Given the description of an element on the screen output the (x, y) to click on. 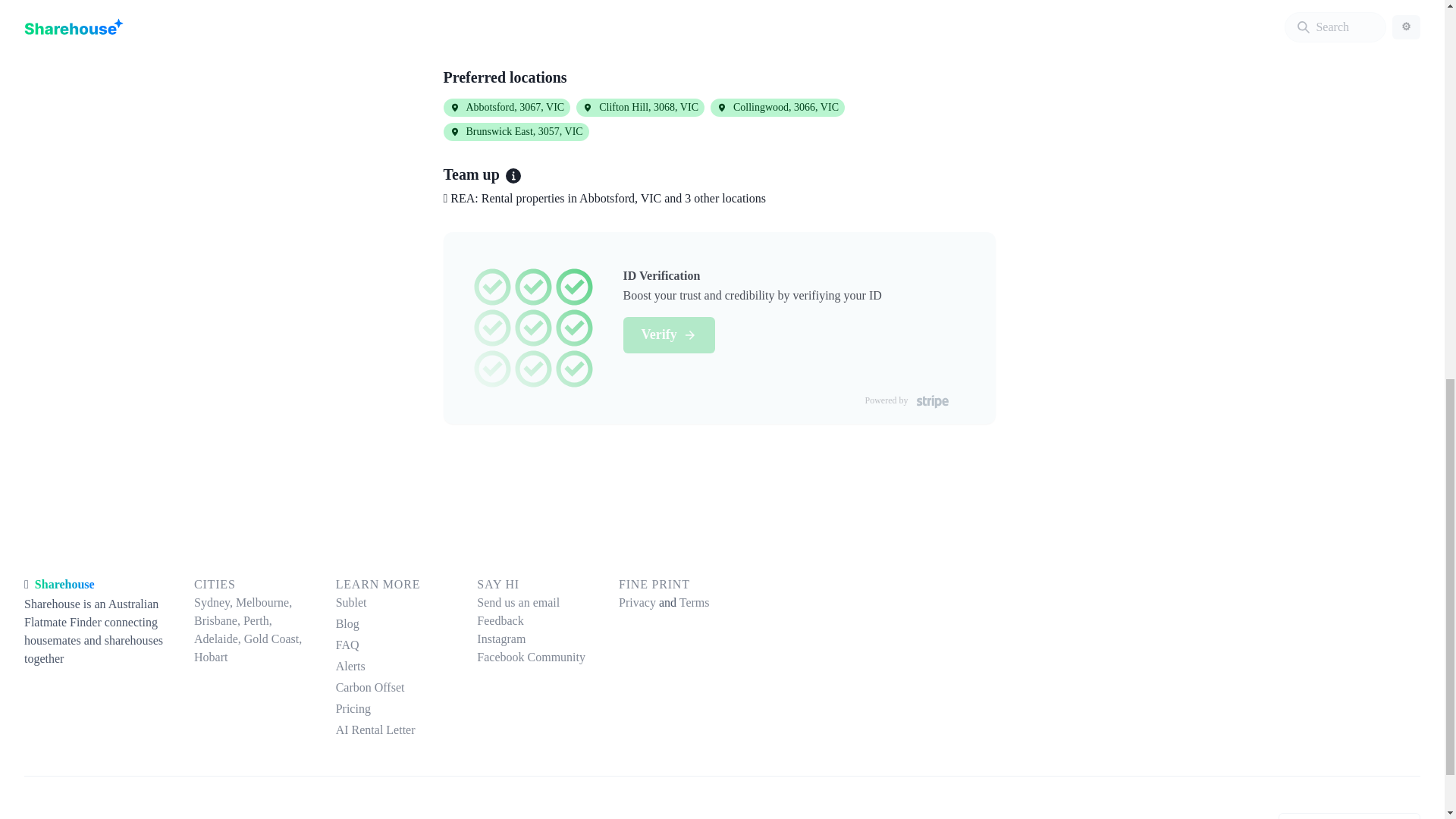
Brunswick East, 3057, VIC (515, 131)
Verify (668, 334)
Carbon Offset (394, 687)
Gold Coast, (272, 638)
Hobart (210, 656)
Abbotsford, 3067, VIC (506, 107)
Sydney, (214, 602)
Clifton Hill, 3068, VIC (640, 107)
Pricing (394, 709)
Collingwood, 3066, VIC (777, 107)
